Given the description of an element on the screen output the (x, y) to click on. 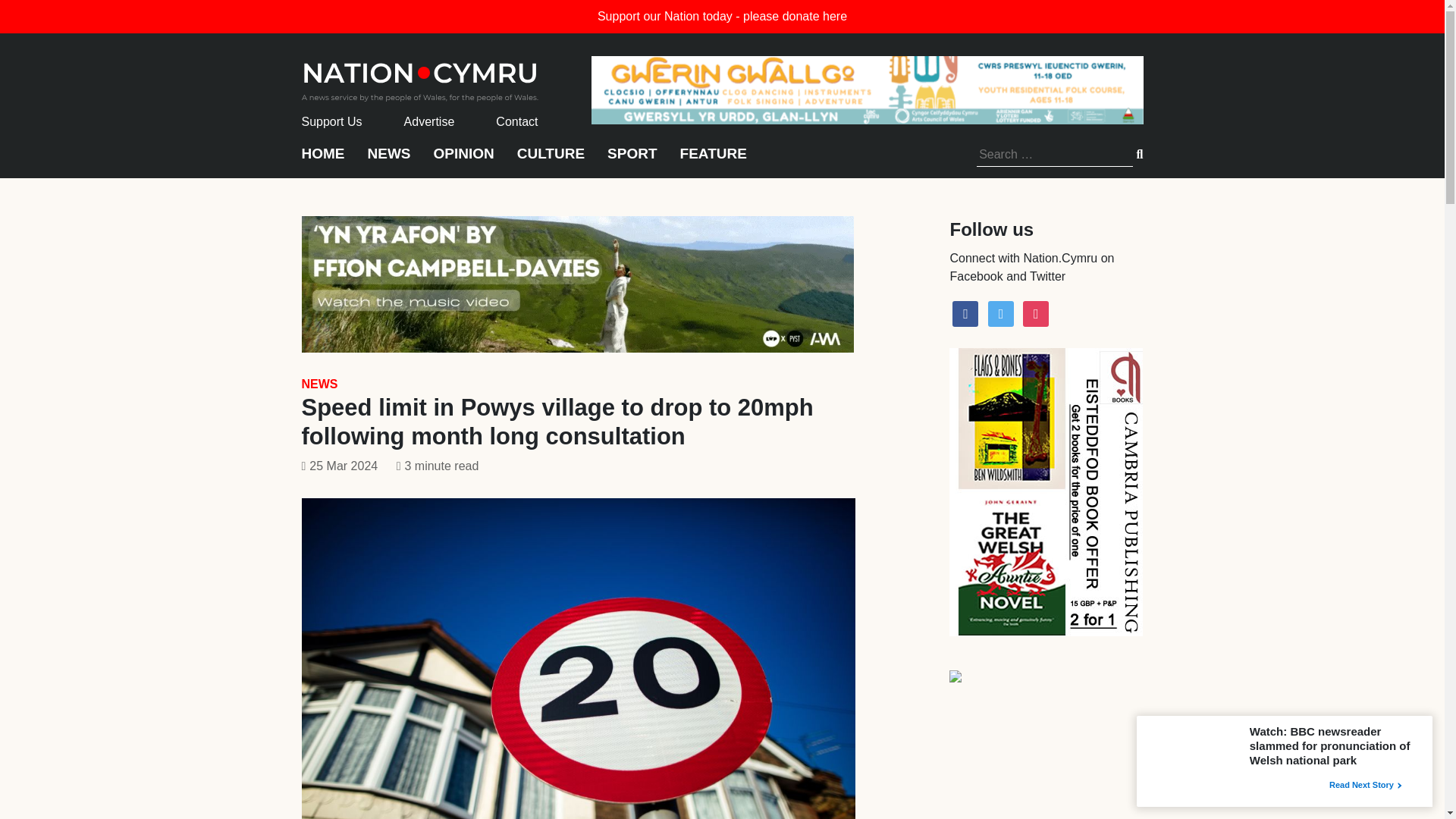
OPINION (464, 160)
SPORT (631, 160)
NEWS (388, 160)
FEATURE (712, 160)
CULTURE (550, 160)
home (419, 77)
Contact (516, 121)
HOME (323, 160)
Advertise (429, 121)
NEWS (319, 383)
